Given the description of an element on the screen output the (x, y) to click on. 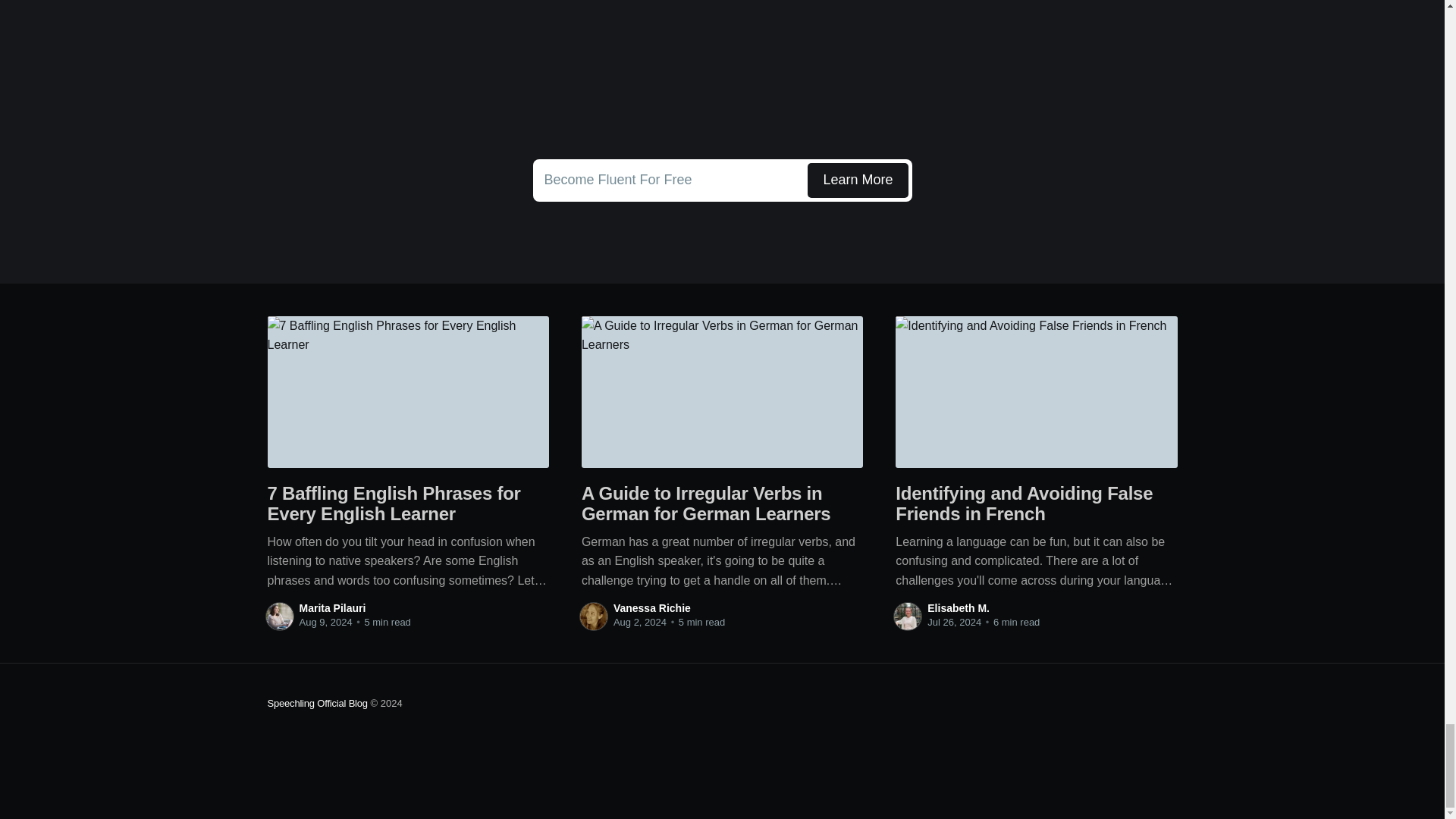
Speechling Official Blog (316, 703)
Elisabeth M. (958, 607)
Vanessa Richie (651, 607)
YouTube video player (721, 72)
Marita Pilauri (331, 607)
